Given the description of an element on the screen output the (x, y) to click on. 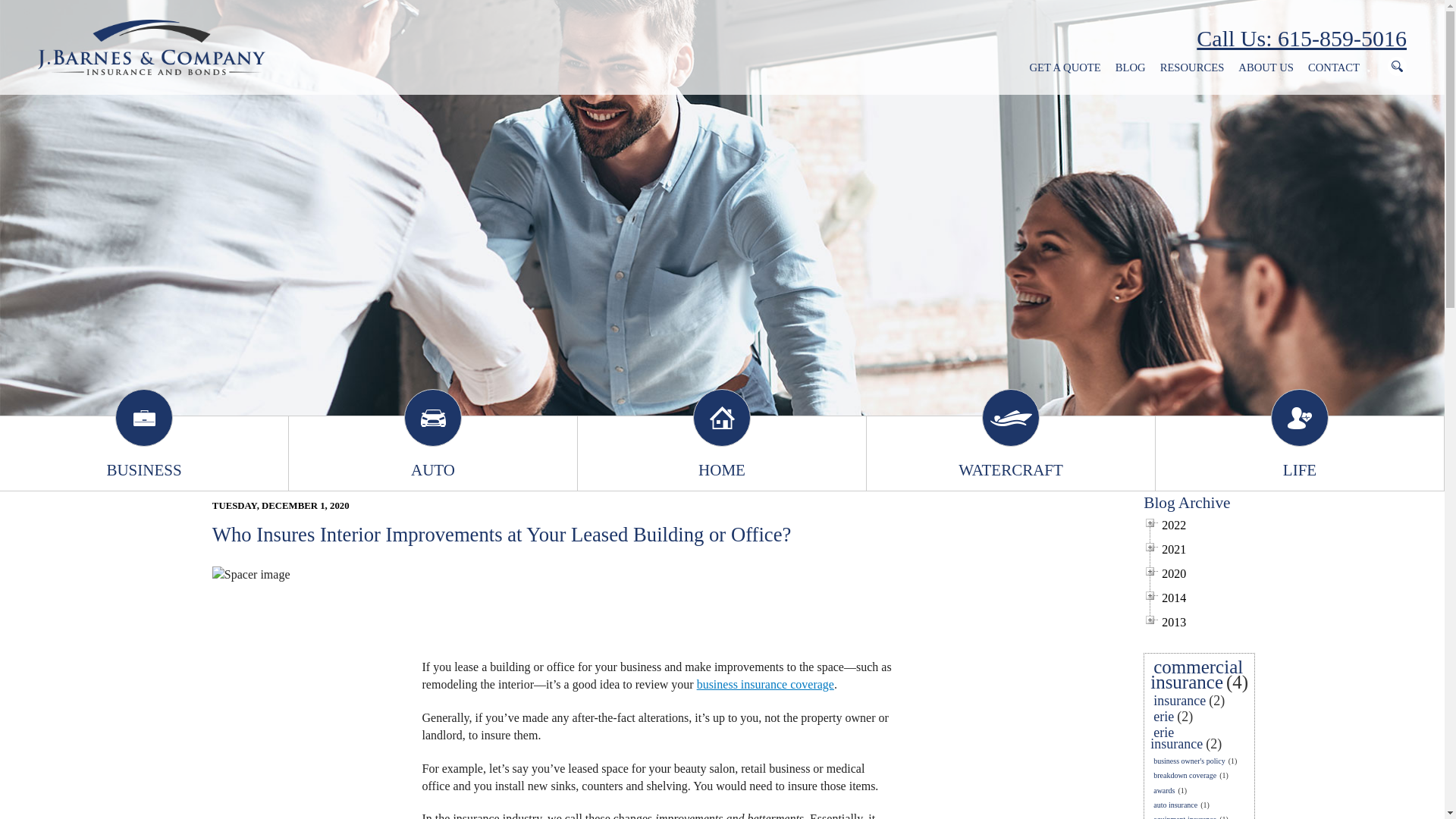
business owner's policy (1189, 760)
insurance (1179, 700)
auto insurance (1174, 804)
erie insurance (1177, 737)
equipment insurance (1185, 816)
erie (1163, 716)
Call Us: 615-859-5016 (1301, 38)
awards (1163, 790)
breakdown coverage (1185, 775)
commercial insurance (1196, 674)
GET A QUOTE (1065, 67)
